Given the description of an element on the screen output the (x, y) to click on. 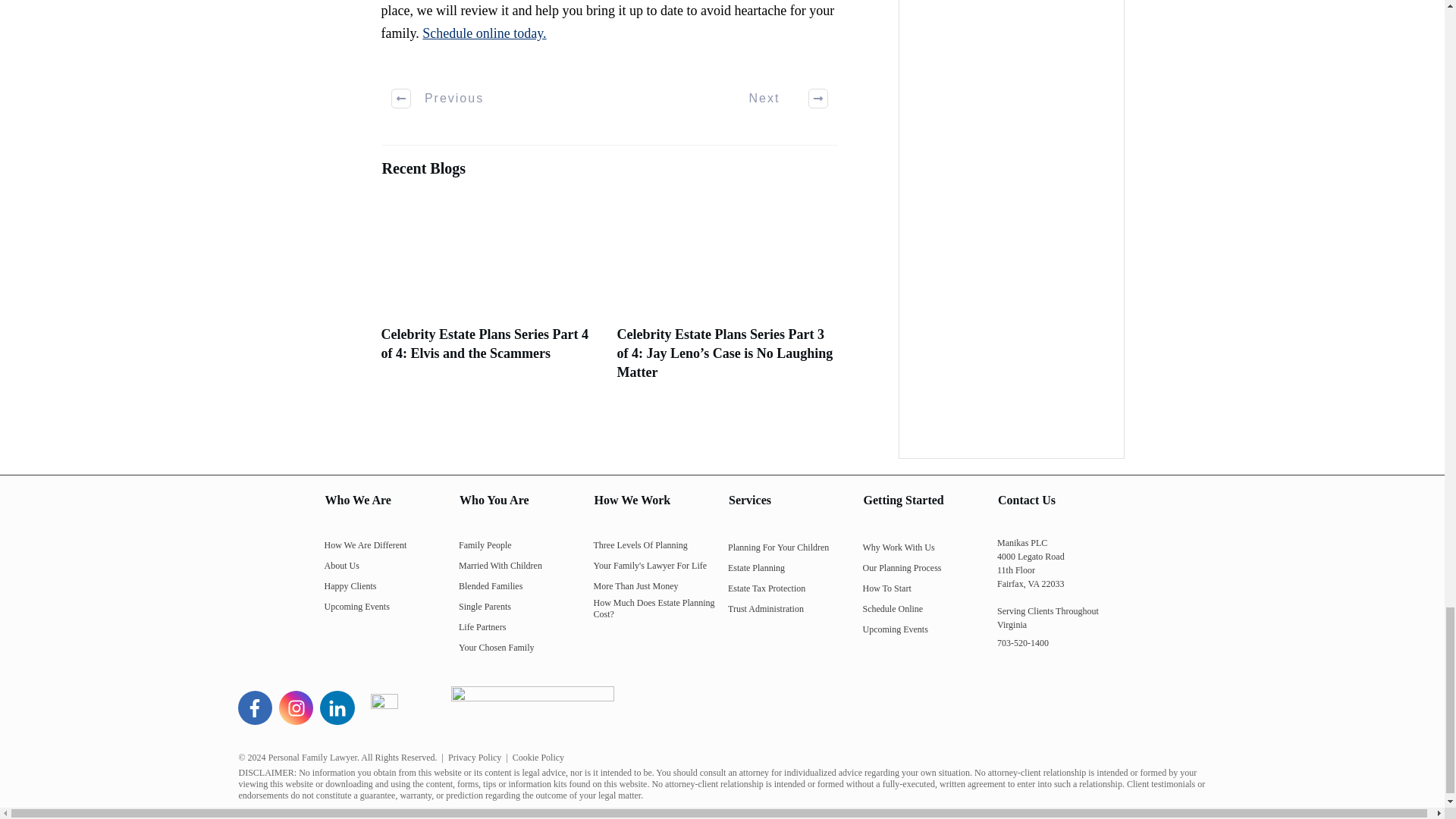
Avvo A 35px (384, 707)
